Given the description of an element on the screen output the (x, y) to click on. 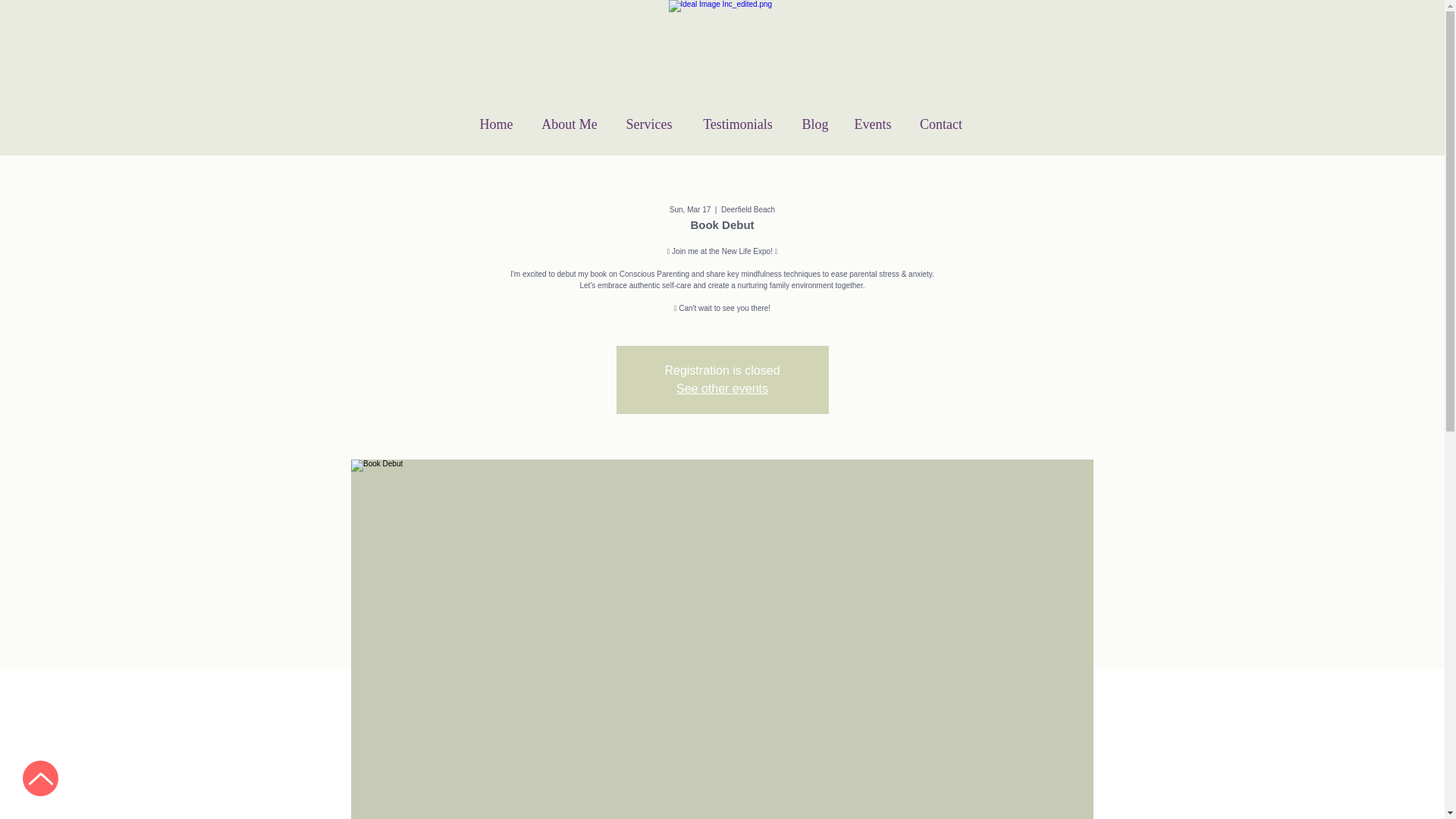
Blog (815, 124)
See other events (722, 388)
Services (648, 124)
Home (495, 124)
About Me (568, 124)
Contact (940, 124)
Events (872, 124)
Testimonials (737, 124)
